Given the description of an element on the screen output the (x, y) to click on. 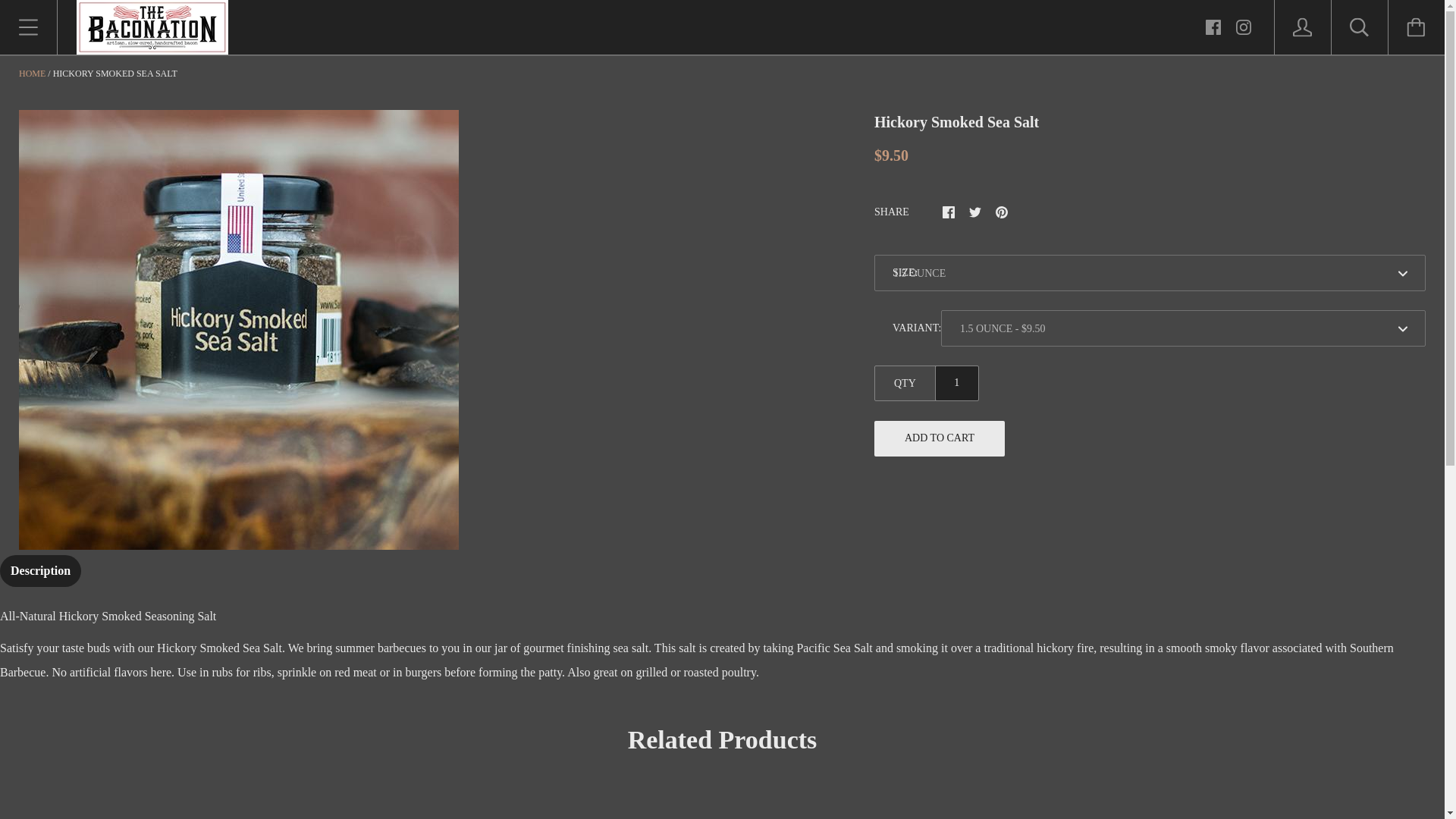
1 (957, 383)
HOME (31, 72)
Description (40, 571)
Instagram (1243, 25)
ADD TO CART (939, 438)
Facebook (1213, 25)
Instagram (1243, 27)
Facebook (1213, 27)
